Given the description of an element on the screen output the (x, y) to click on. 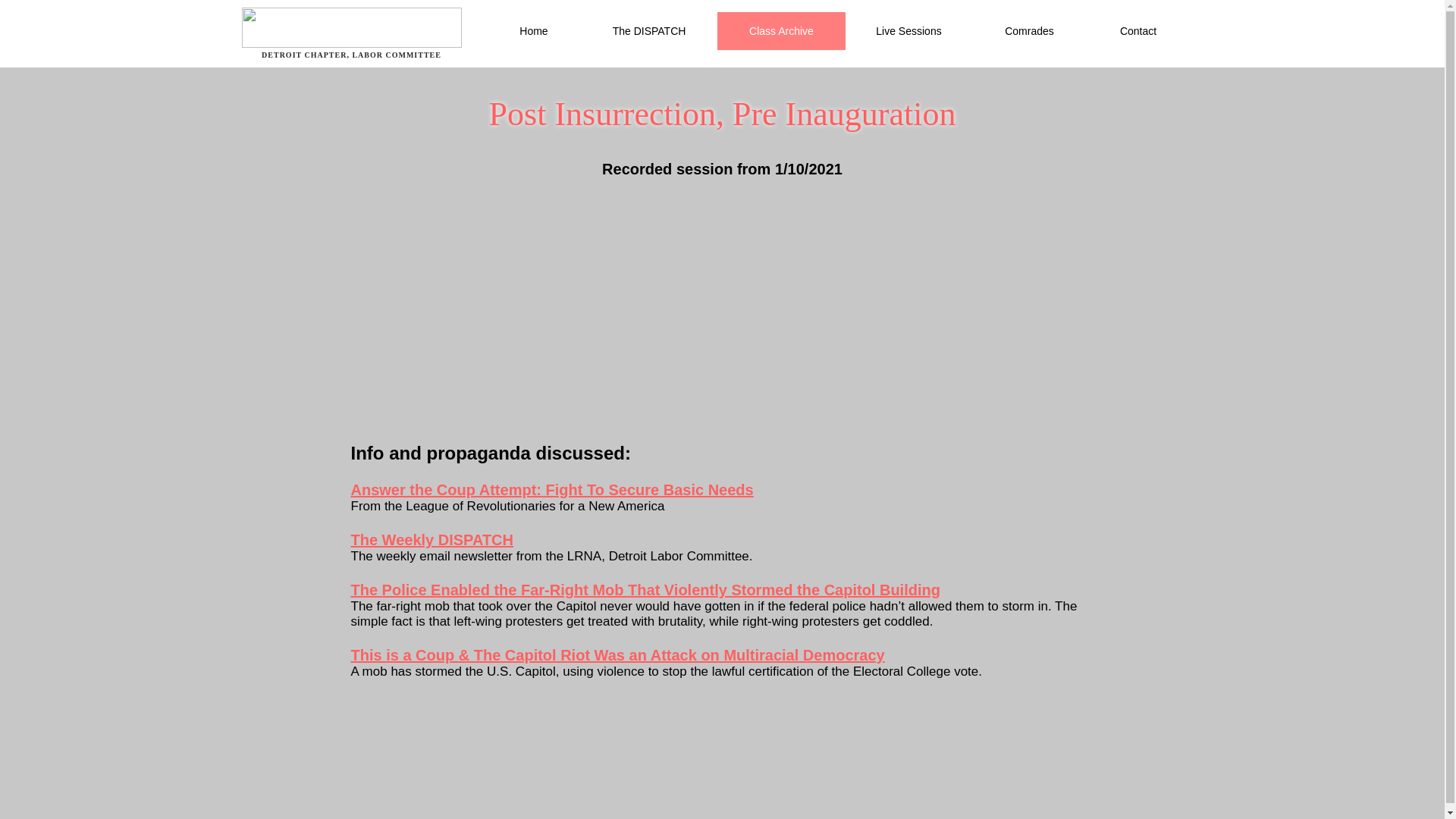
Class Archive (781, 30)
cropped-LRNA-LOGO-TRANS.png (351, 27)
Home (532, 30)
The DISPATCH (648, 30)
